Given the description of an element on the screen output the (x, y) to click on. 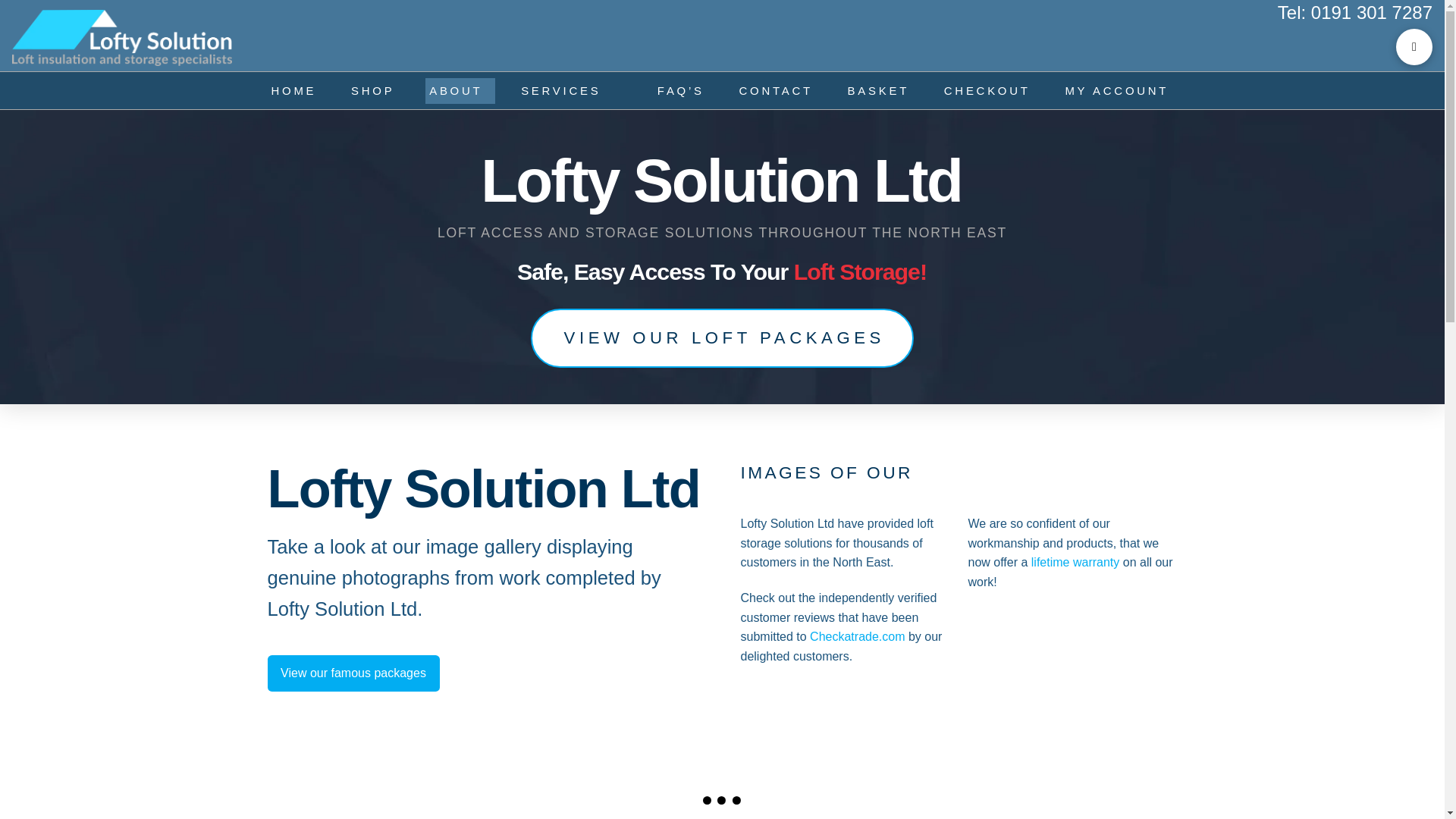
CONTACT (778, 90)
CHECKOUT (989, 90)
VIEW OUR LOFT PACKAGES (722, 337)
SHOP (375, 90)
HOME (295, 90)
View our famous packages (352, 673)
lifetime warranty (1074, 562)
BASKET (881, 90)
Checkatrade.com (856, 635)
ABOUT (460, 90)
